Given the description of an element on the screen output the (x, y) to click on. 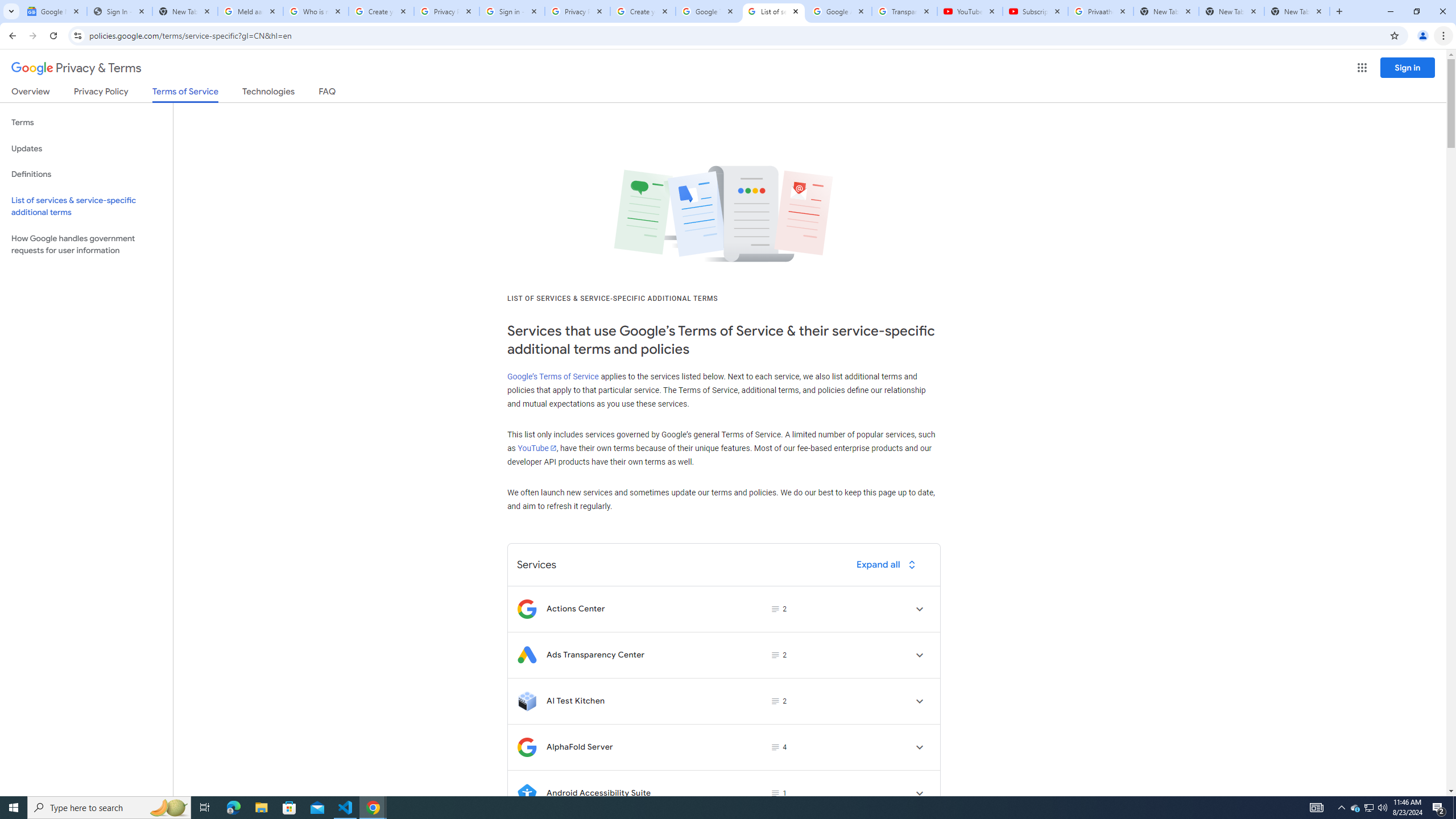
Logo for AlphaFold Server (526, 746)
YouTube (536, 447)
Sign in - Google Accounts (512, 11)
YouTube (969, 11)
Sign In - USA TODAY (119, 11)
